Given the description of an element on the screen output the (x, y) to click on. 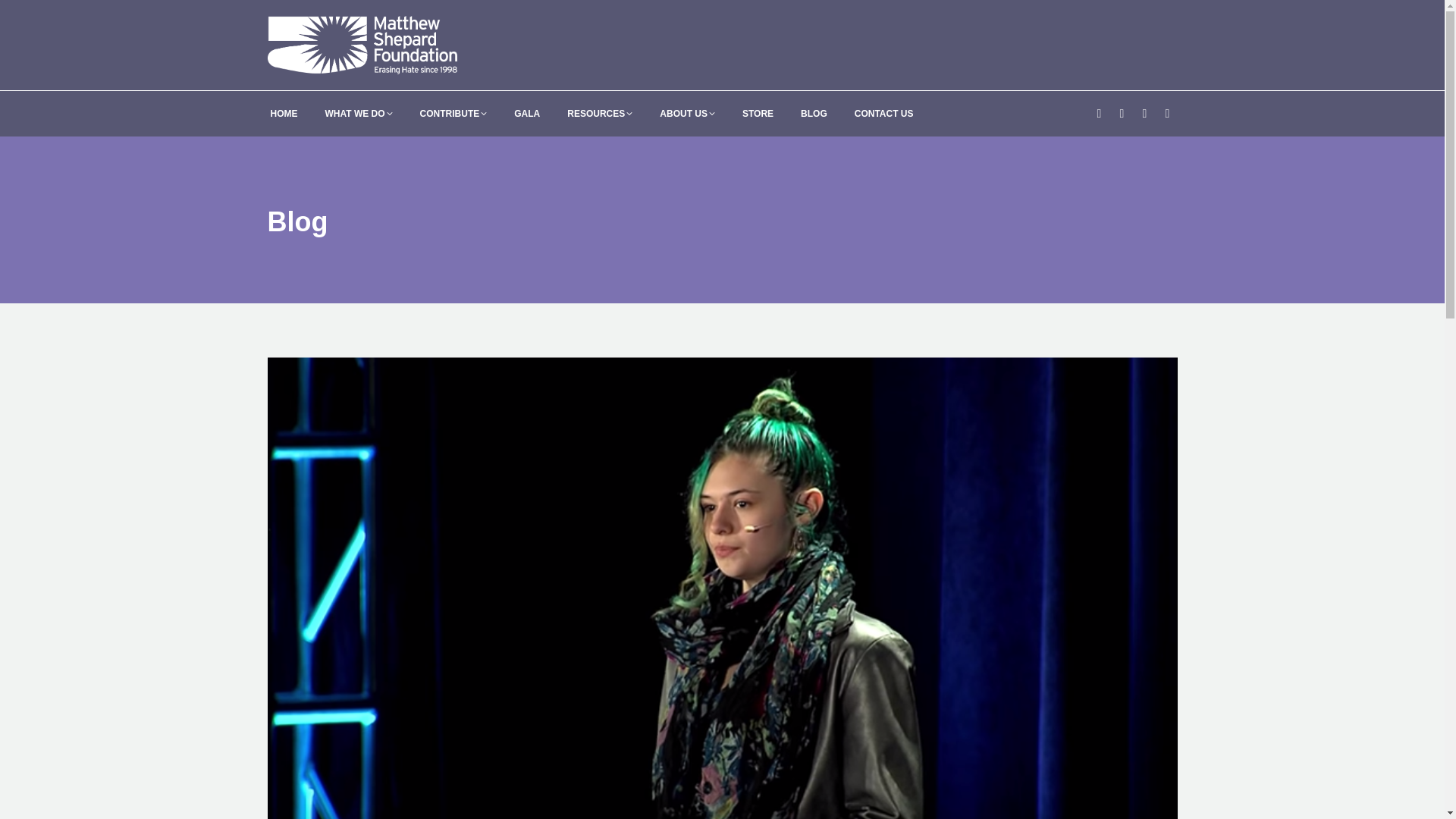
Facebook page opens in new window (1098, 113)
WHAT WE DO (357, 113)
X page opens in new window (1121, 113)
YouTube page opens in new window (1166, 113)
Instagram page opens in new window (1144, 113)
CONTACT US (884, 113)
X page opens in new window (1121, 113)
BLOG (813, 113)
YouTube page opens in new window (1166, 113)
